Given the description of an element on the screen output the (x, y) to click on. 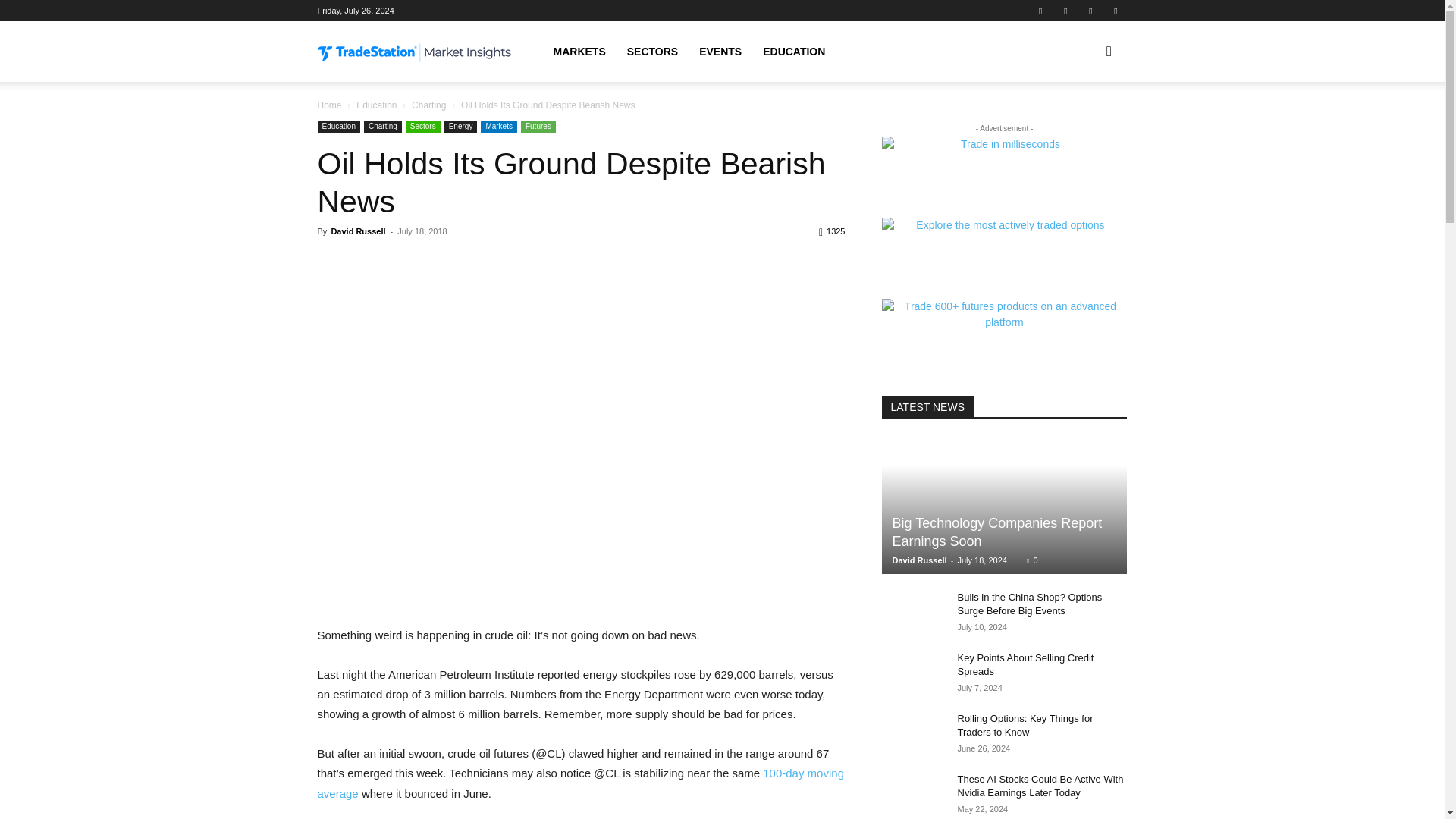
Facebook (1040, 10)
Youtube (1114, 10)
Twitter (1090, 10)
Linkedin (1065, 10)
TradeStation Market Insights (414, 52)
